Given the description of an element on the screen output the (x, y) to click on. 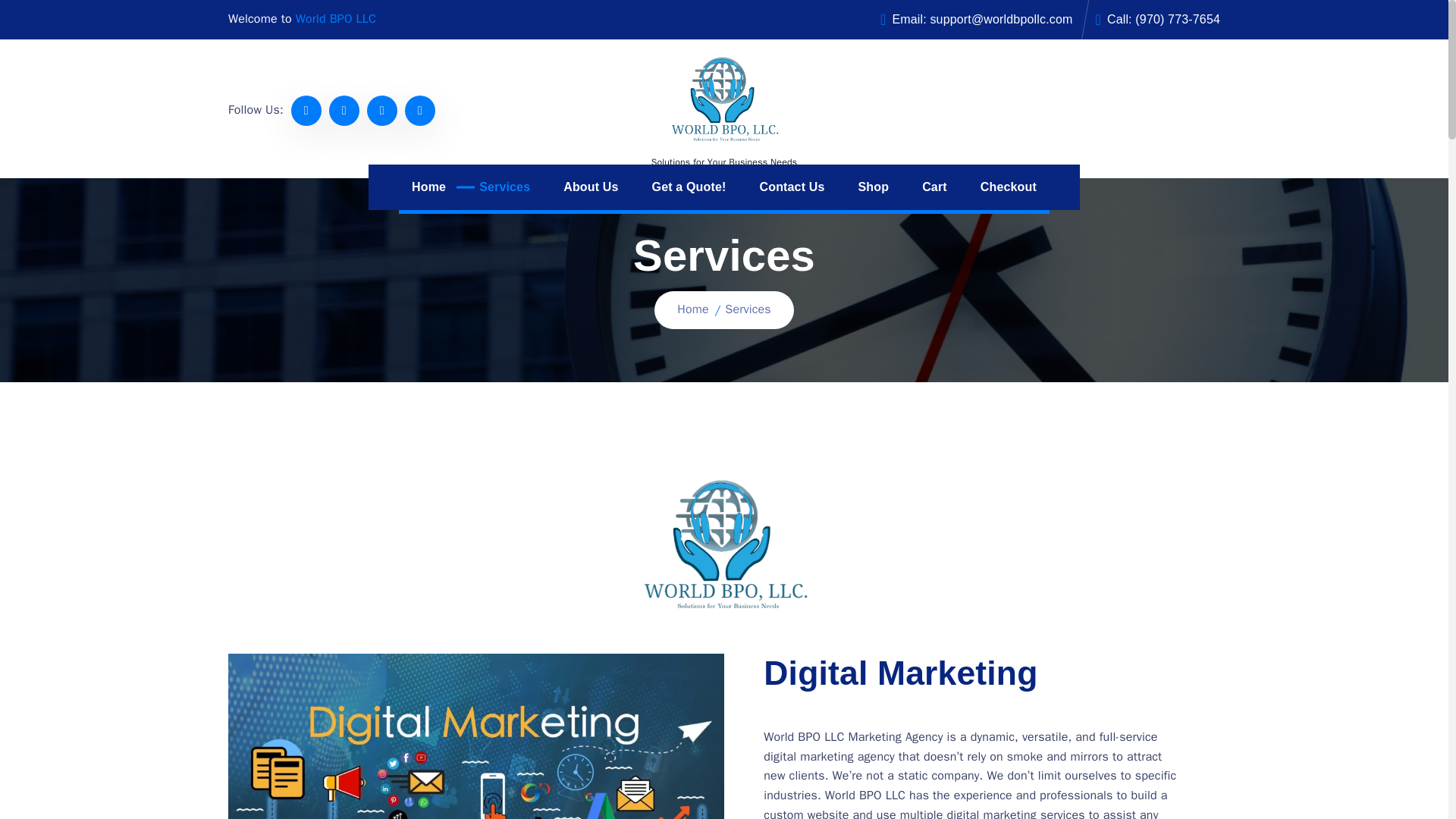
Services (504, 186)
Get a Quote! (689, 186)
Contact Us (791, 186)
About Us (590, 186)
Services (747, 309)
Home (693, 309)
About Us (590, 186)
Checkout (1007, 186)
Contact Us (791, 186)
Get a Quote! (689, 186)
World BPO LLC (335, 19)
Services (504, 186)
Checkout (1007, 186)
